Given the description of an element on the screen output the (x, y) to click on. 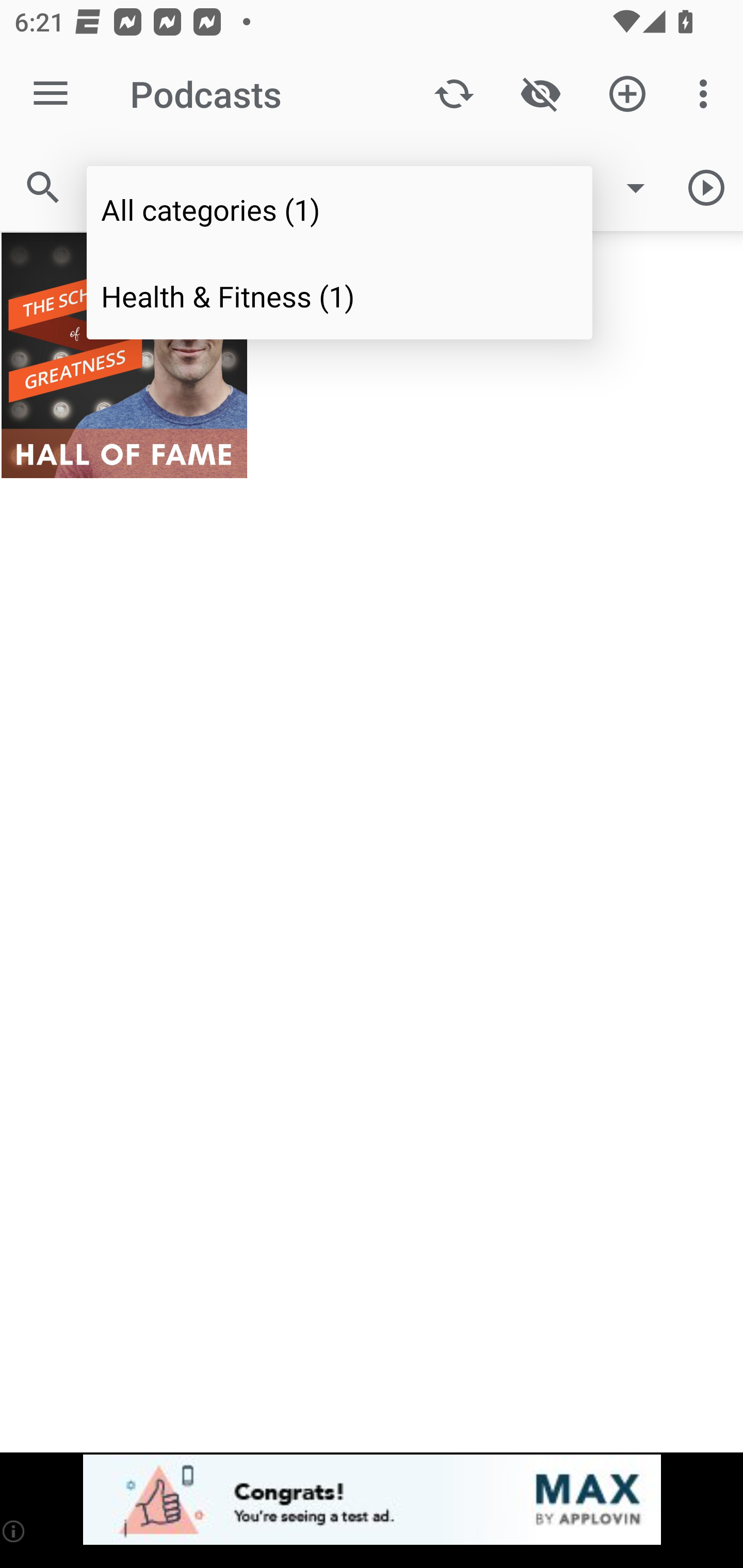
All categories (1) (339, 209)
Health & Fitness (1) (339, 295)
